Given the description of an element on the screen output the (x, y) to click on. 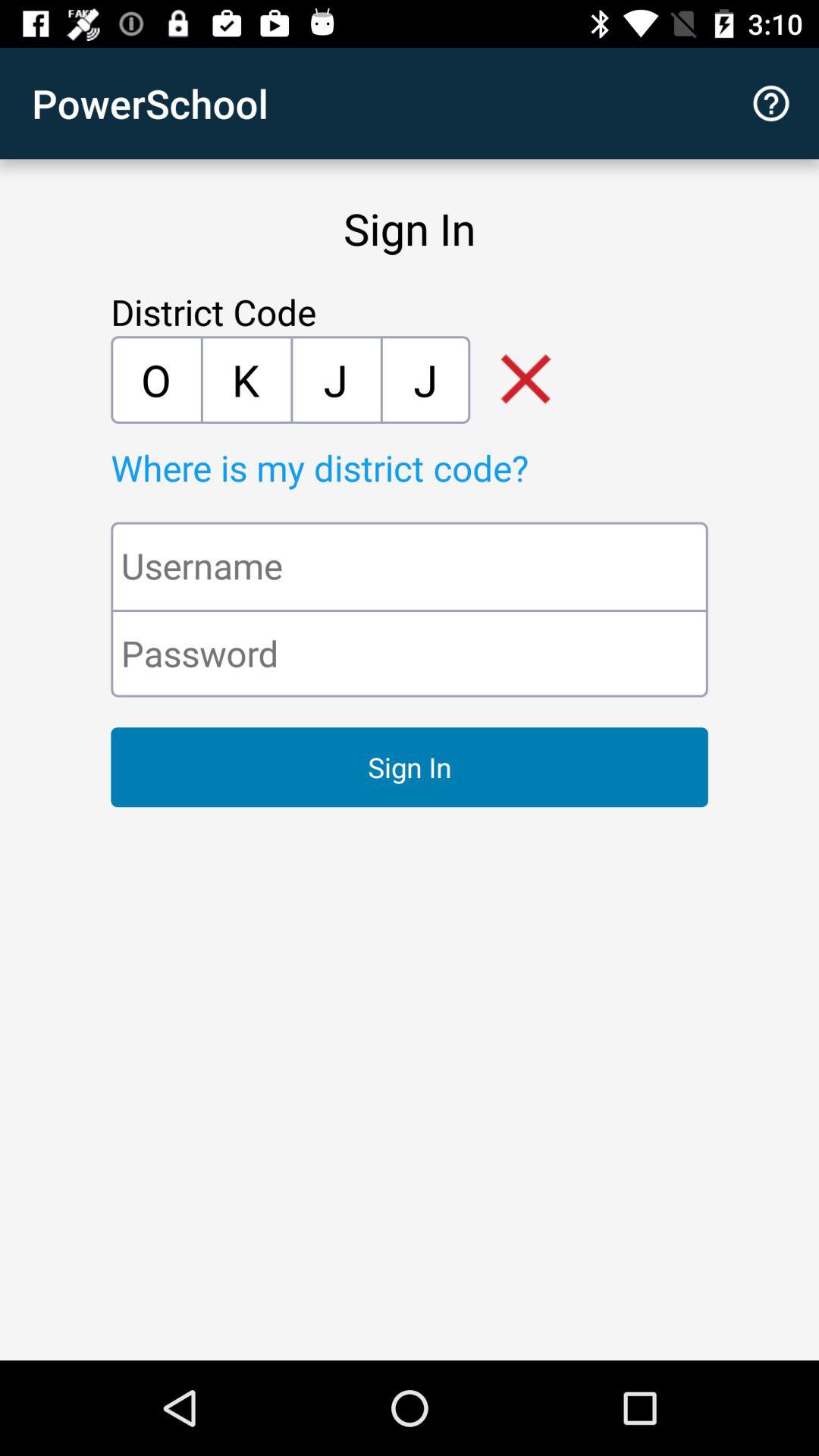
select the o (155, 379)
